Given the description of an element on the screen output the (x, y) to click on. 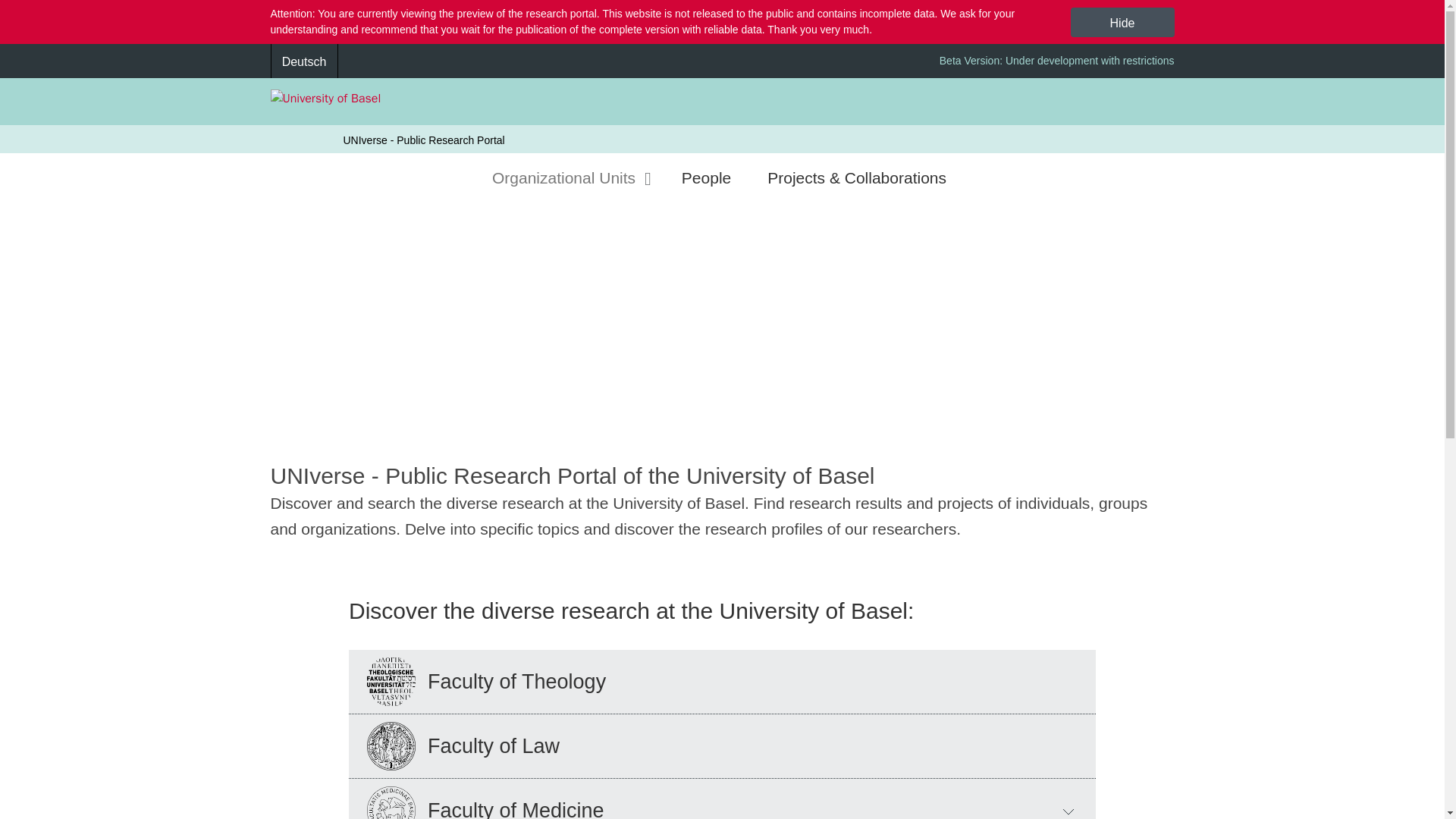
Deutsch (303, 60)
Hide (1122, 21)
Organizational Units (571, 177)
